Given the description of an element on the screen output the (x, y) to click on. 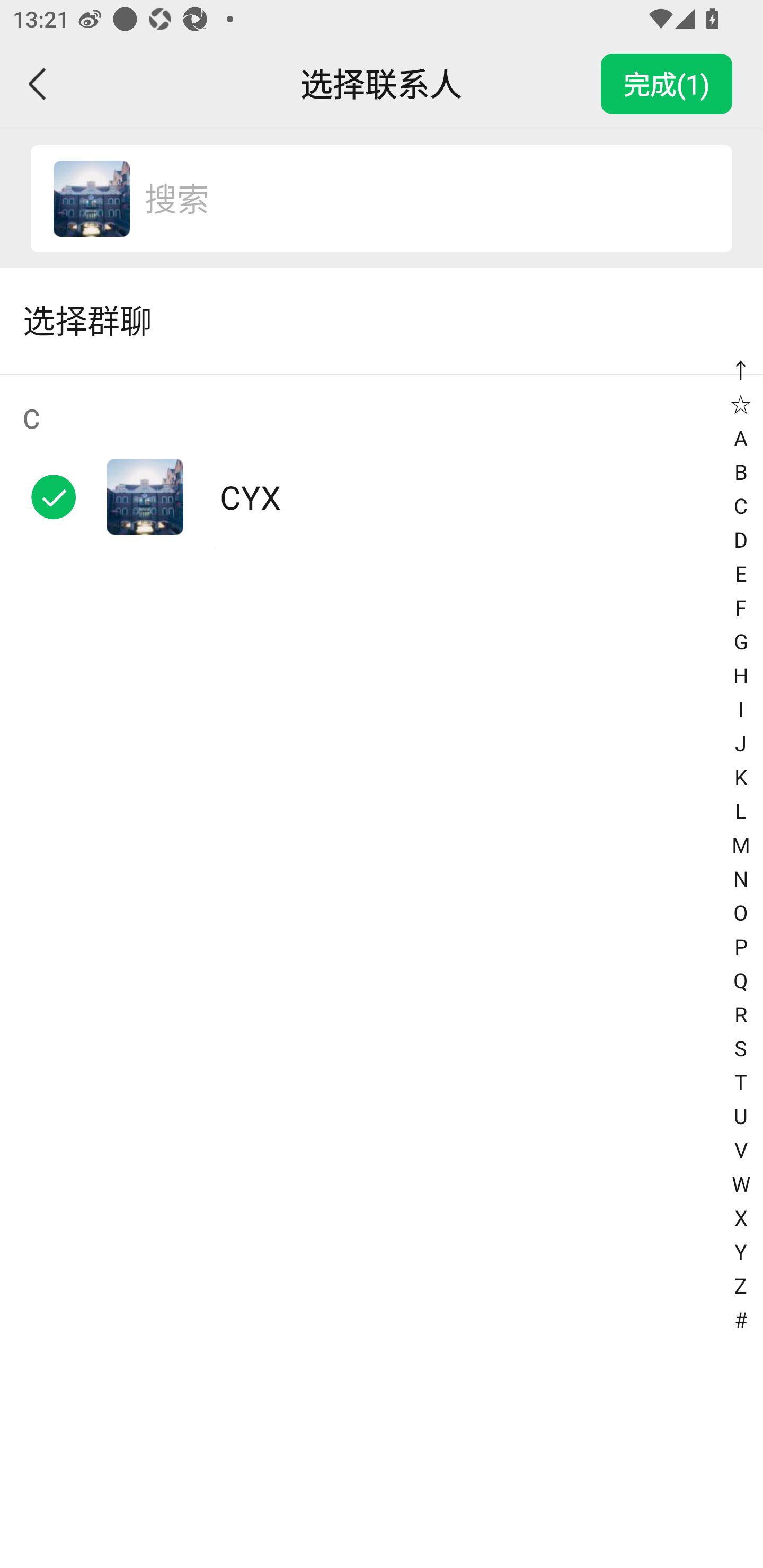
返回 (38, 83)
完成(1) (666, 83)
CYX (91, 198)
搜索 (418, 198)
选择群聊 (381, 320)
C CYX (381, 462)
